Given the description of an element on the screen output the (x, y) to click on. 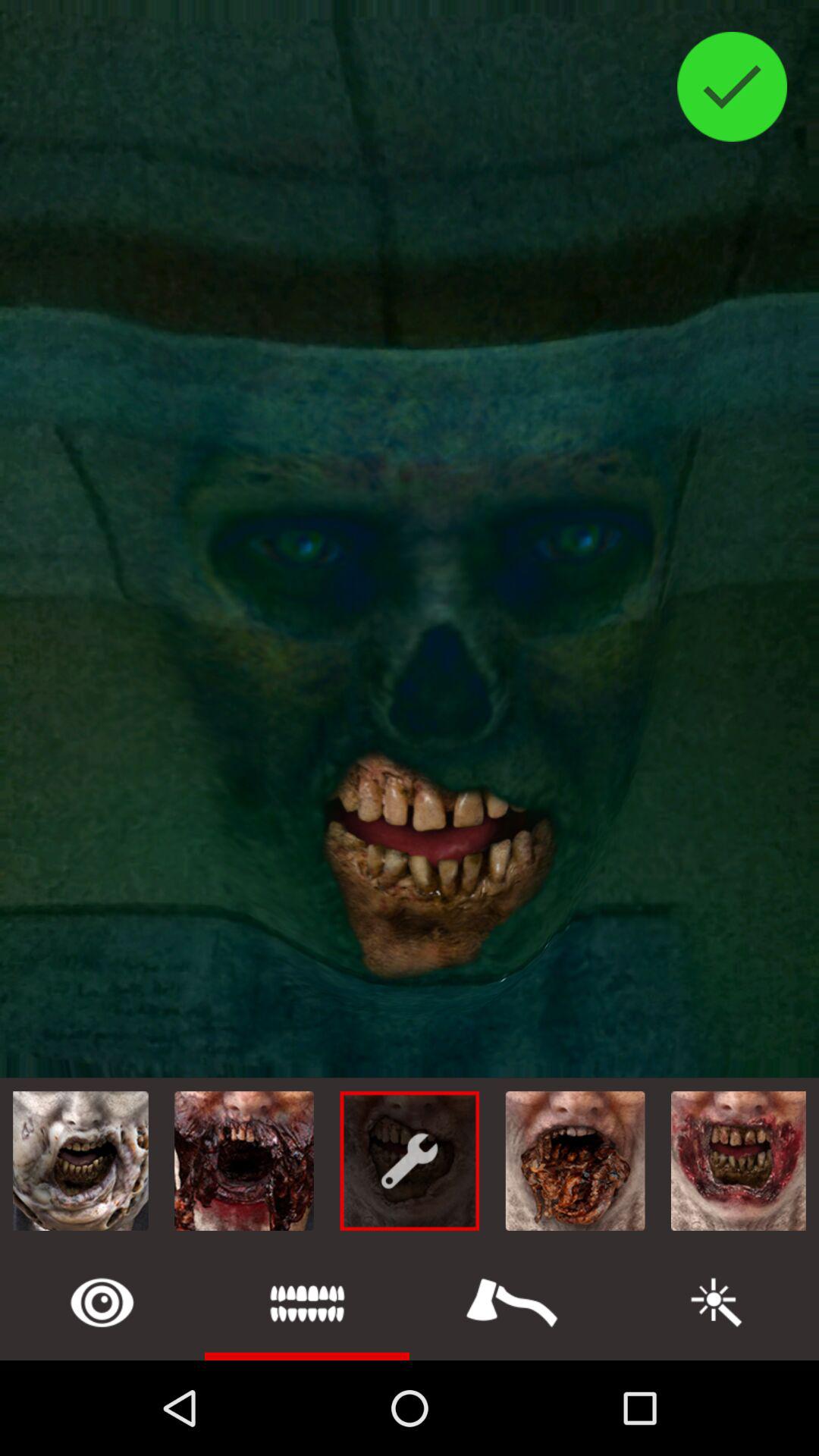
select weapon (511, 1302)
